Given the description of an element on the screen output the (x, y) to click on. 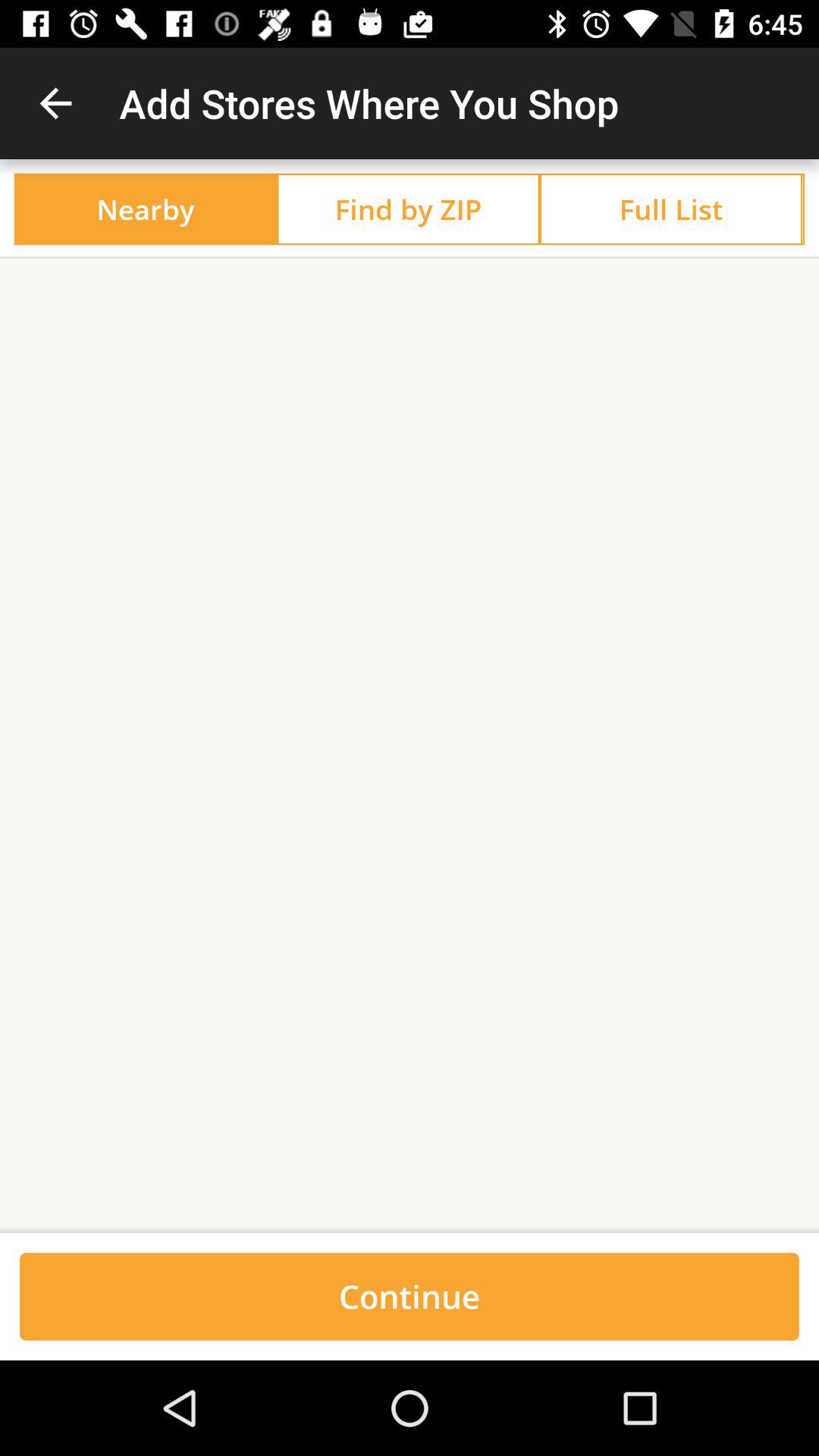
press the icon above continue (409, 745)
